Given the description of an element on the screen output the (x, y) to click on. 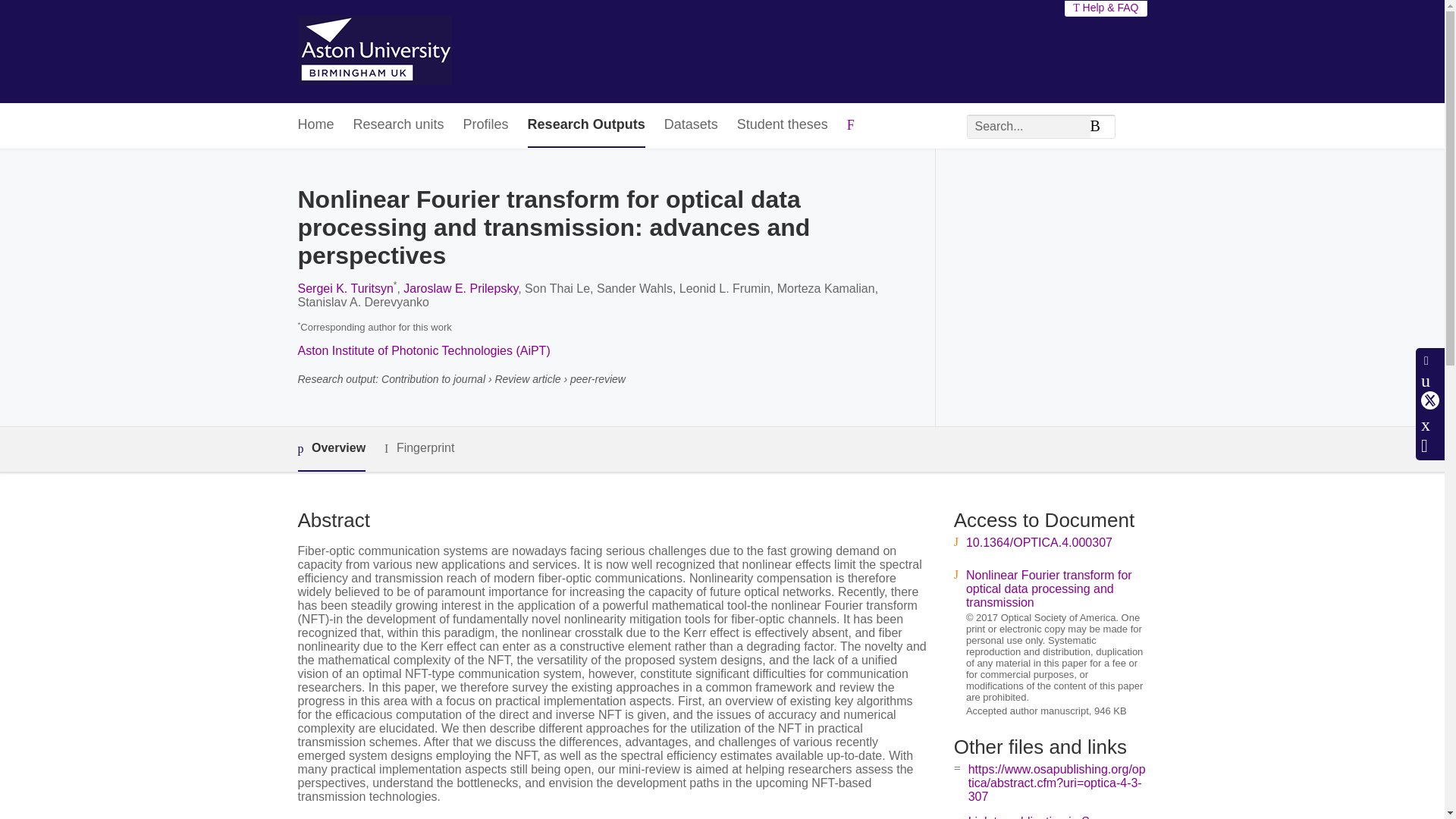
Research Outputs (586, 125)
Fingerprint (419, 448)
Student theses (782, 125)
Overview (331, 448)
Profiles (485, 125)
Research units (398, 125)
Link to publication in Scopus (1045, 816)
Datasets (690, 125)
Aston Research Explorer Home (374, 51)
Jaroslaw E. Prilepsky (460, 287)
Sergei K. Turitsyn (345, 287)
